Given the description of an element on the screen output the (x, y) to click on. 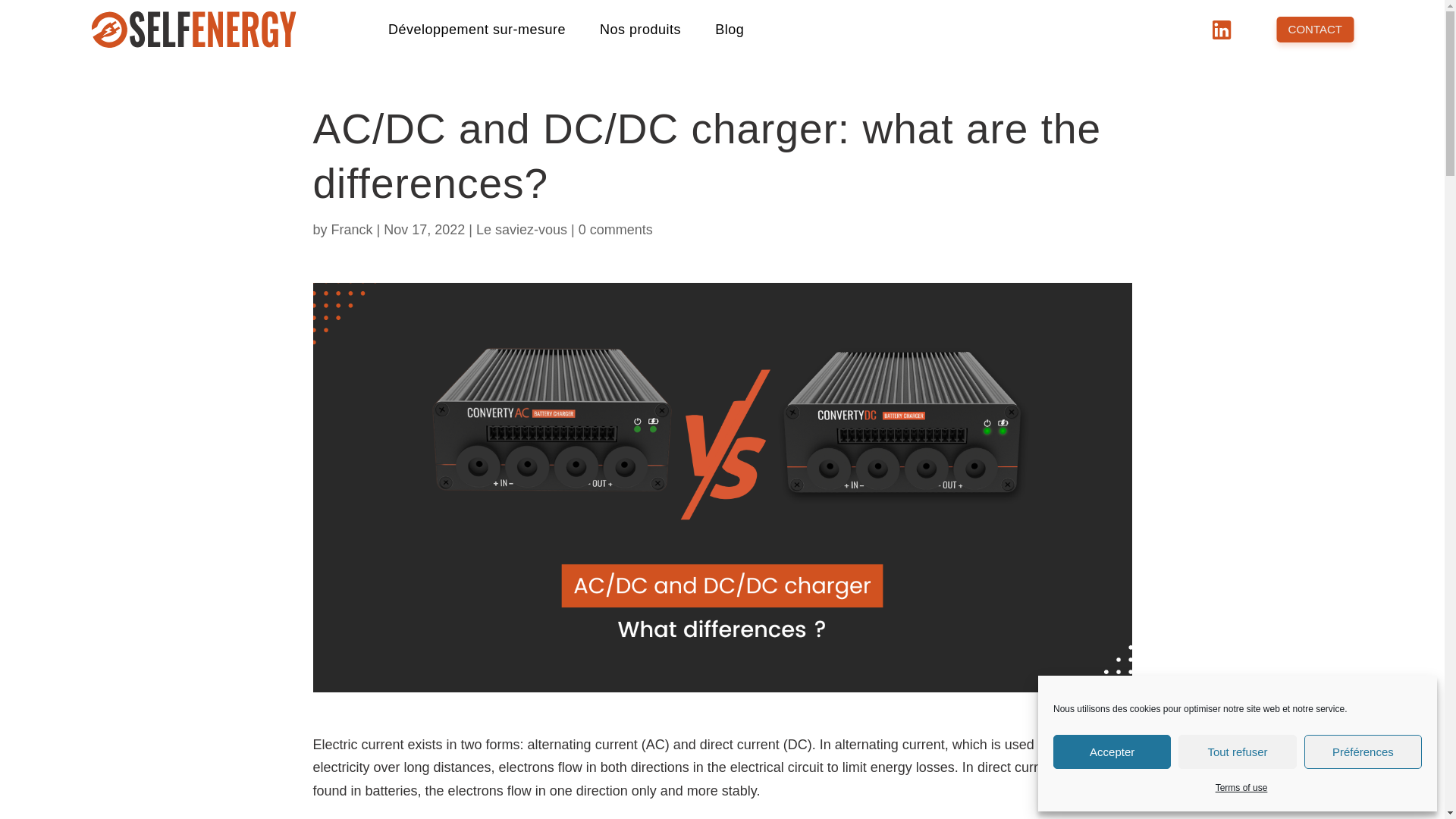
Follow on LinkedIn (1224, 31)
Posts by Franck (351, 229)
Tout refuser (1236, 751)
Franck (351, 229)
0 comments (615, 229)
CONTACT (1315, 29)
Le saviez-vous (521, 229)
Terms of use (1241, 788)
Accepter (1111, 751)
Blog (729, 28)
